Given the description of an element on the screen output the (x, y) to click on. 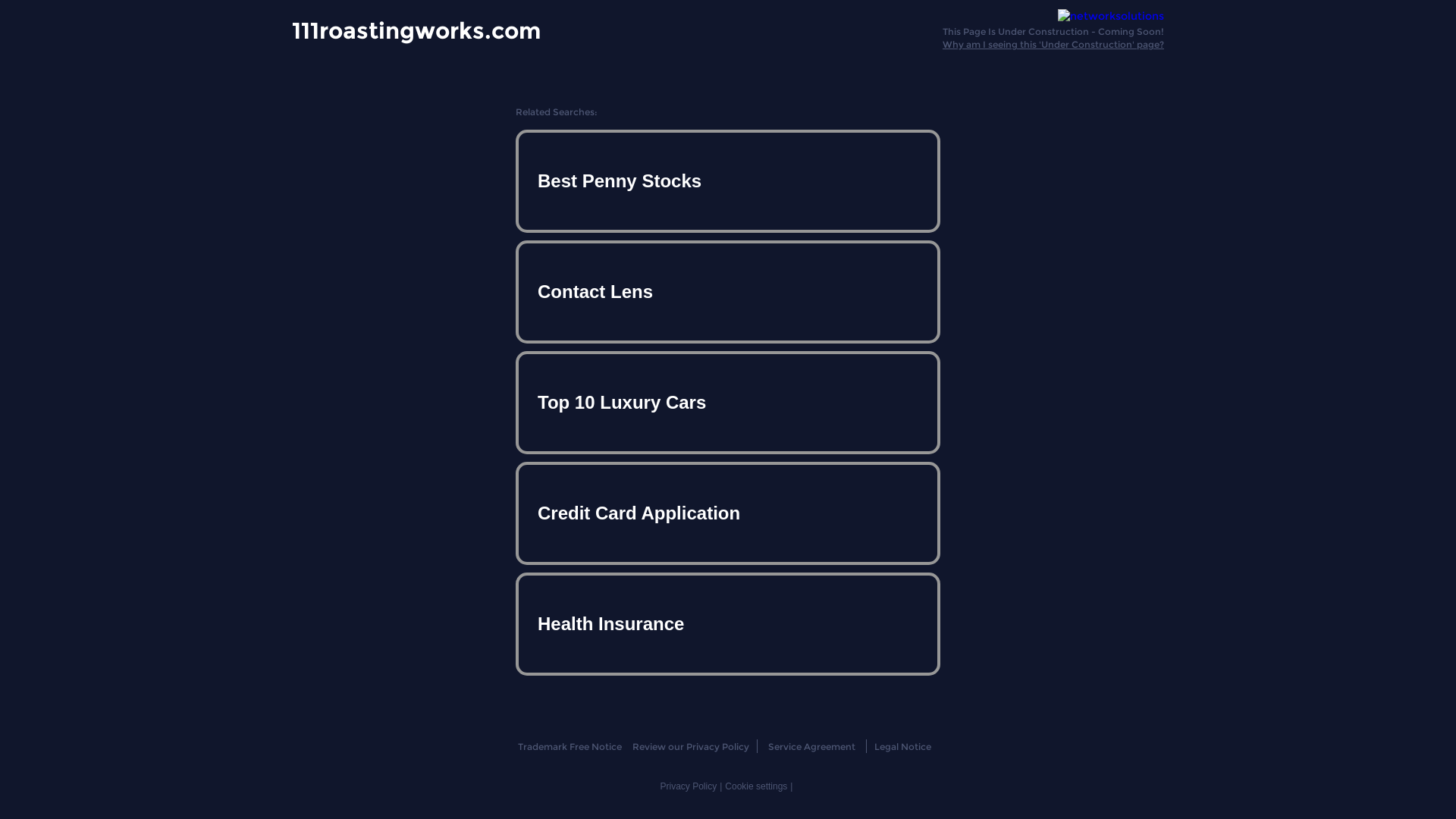
Why am I seeing this 'Under Construction' page? Element type: text (1053, 44)
Top 10 Luxury Cars Element type: text (727, 402)
Privacy Policy Element type: text (687, 786)
Best Penny Stocks Element type: text (727, 180)
Legal Notice Element type: text (901, 746)
Credit Card Application Element type: text (727, 512)
111roastingworks.com Element type: text (415, 29)
Cookie settings Element type: text (755, 786)
Health Insurance Element type: text (727, 623)
Contact Lens Element type: text (727, 291)
Service Agreement Element type: text (810, 746)
Trademark Free Notice Element type: text (569, 746)
Review our Privacy Policy Element type: text (690, 746)
